Given the description of an element on the screen output the (x, y) to click on. 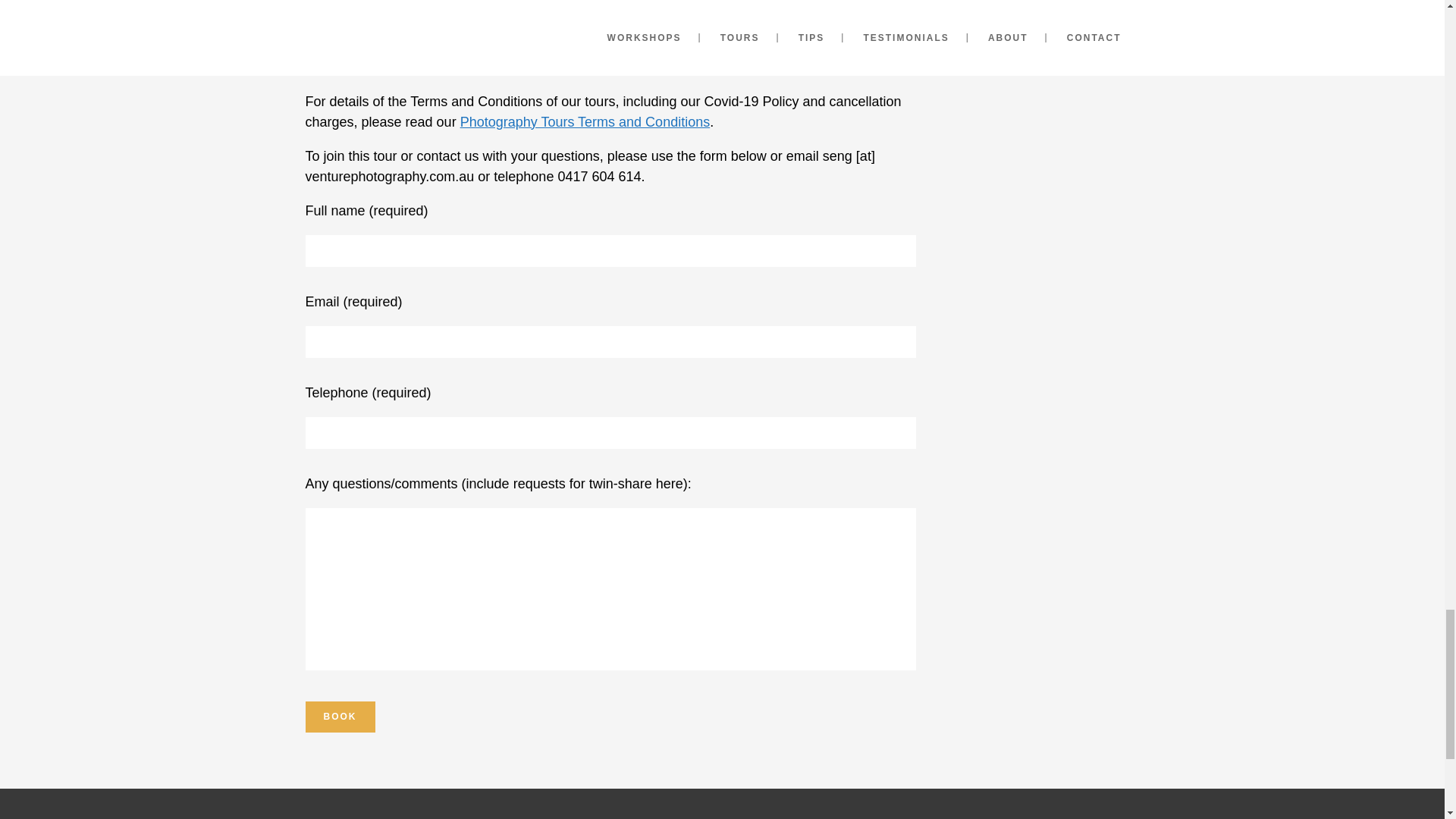
Book (339, 716)
Book (339, 716)
Photography Tours Terms and Conditions (585, 120)
